Given the description of an element on the screen output the (x, y) to click on. 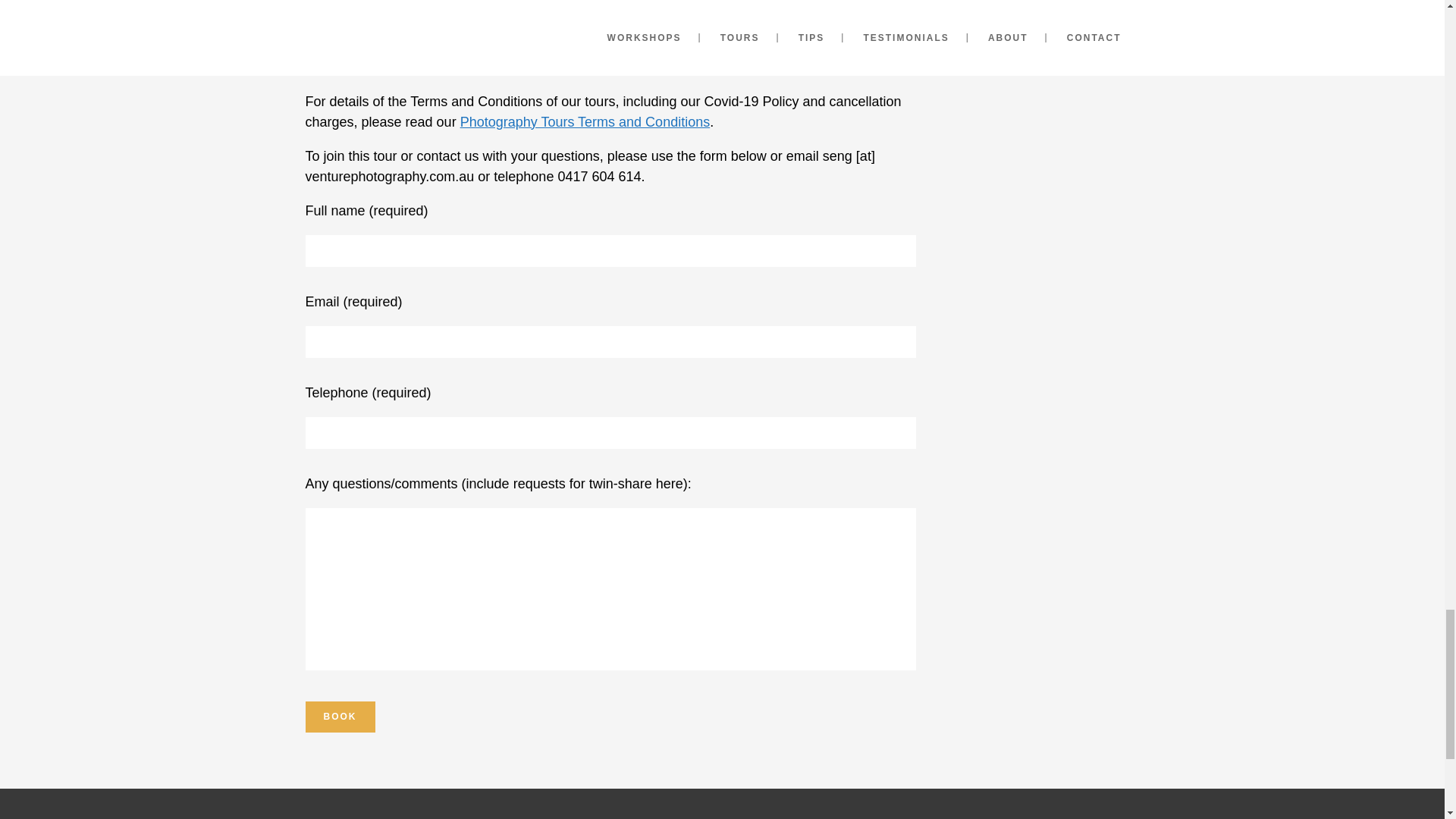
Book (339, 716)
Book (339, 716)
Photography Tours Terms and Conditions (585, 120)
